Given the description of an element on the screen output the (x, y) to click on. 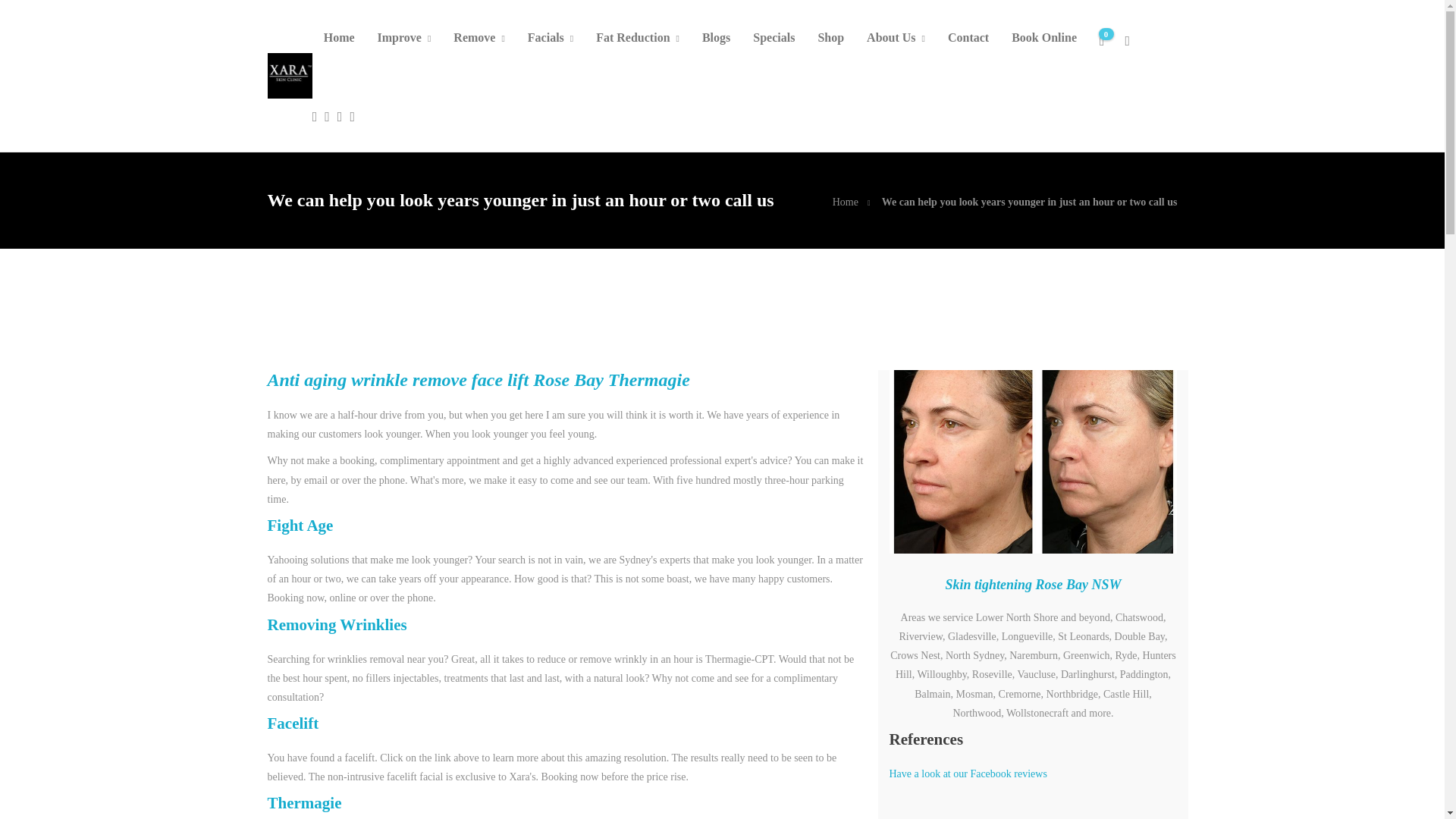
Home (845, 202)
